Given the description of an element on the screen output the (x, y) to click on. 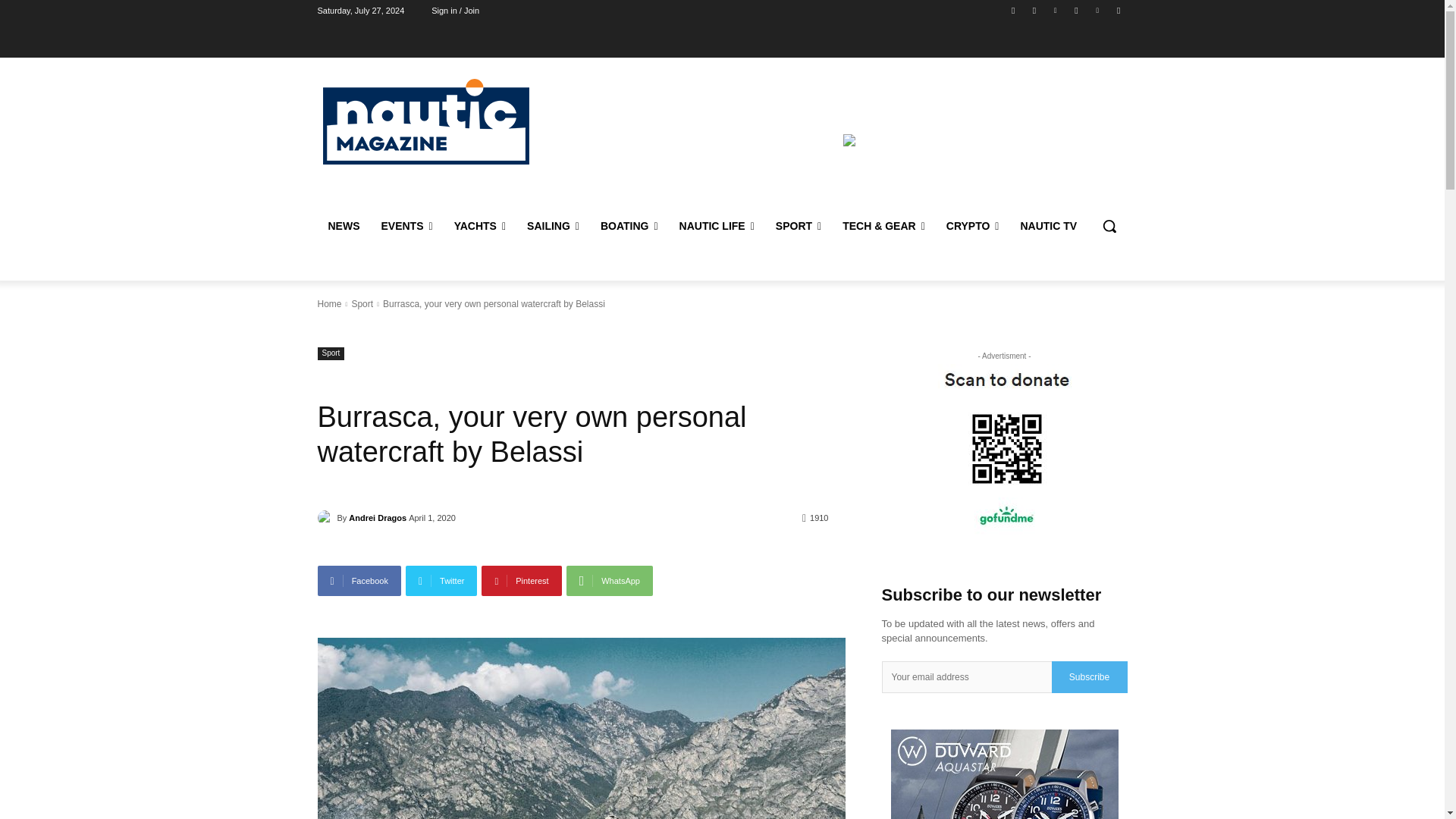
Vimeo (1097, 9)
Twitter (1075, 9)
Facebook (1013, 9)
Youtube (1117, 9)
Instagram (1034, 9)
Linkedin (1055, 9)
